Given the description of an element on the screen output the (x, y) to click on. 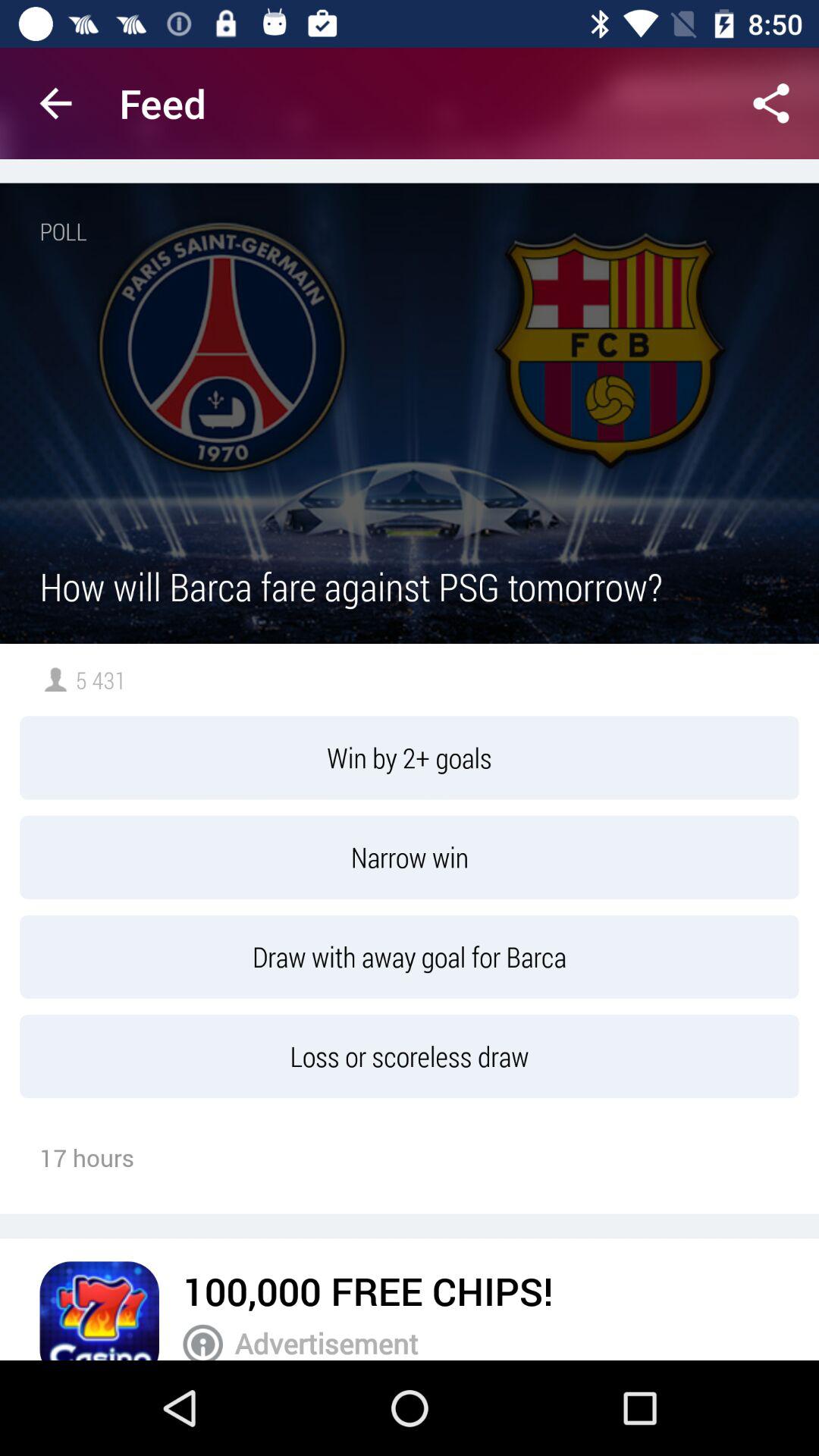
open advertisement (202, 1342)
